Given the description of an element on the screen output the (x, y) to click on. 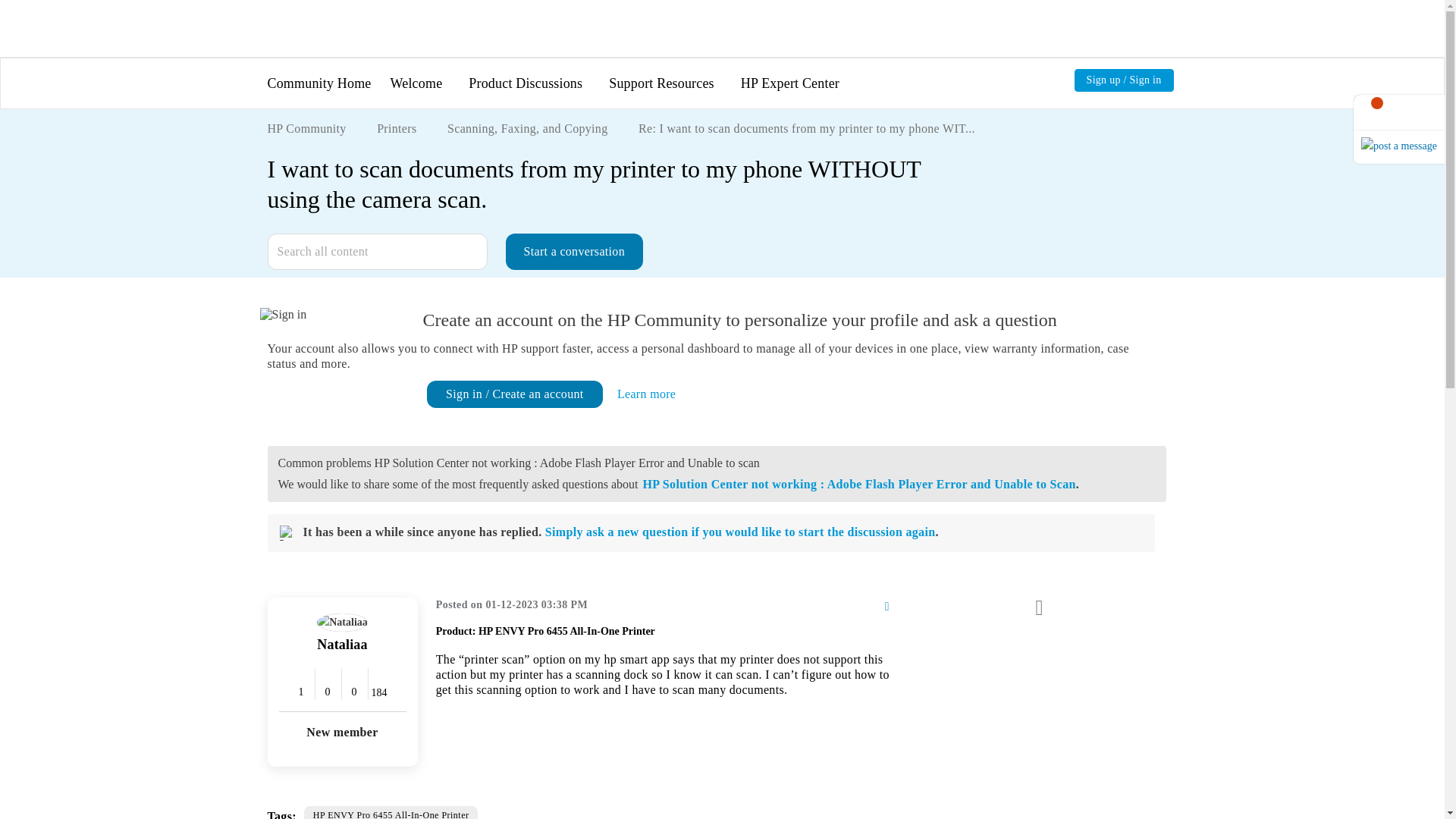
Community Home (318, 82)
Nataliaa (342, 622)
Show option menu (867, 607)
Welcome (416, 82)
Search (376, 251)
Product Discussions (525, 82)
